Given the description of an element on the screen output the (x, y) to click on. 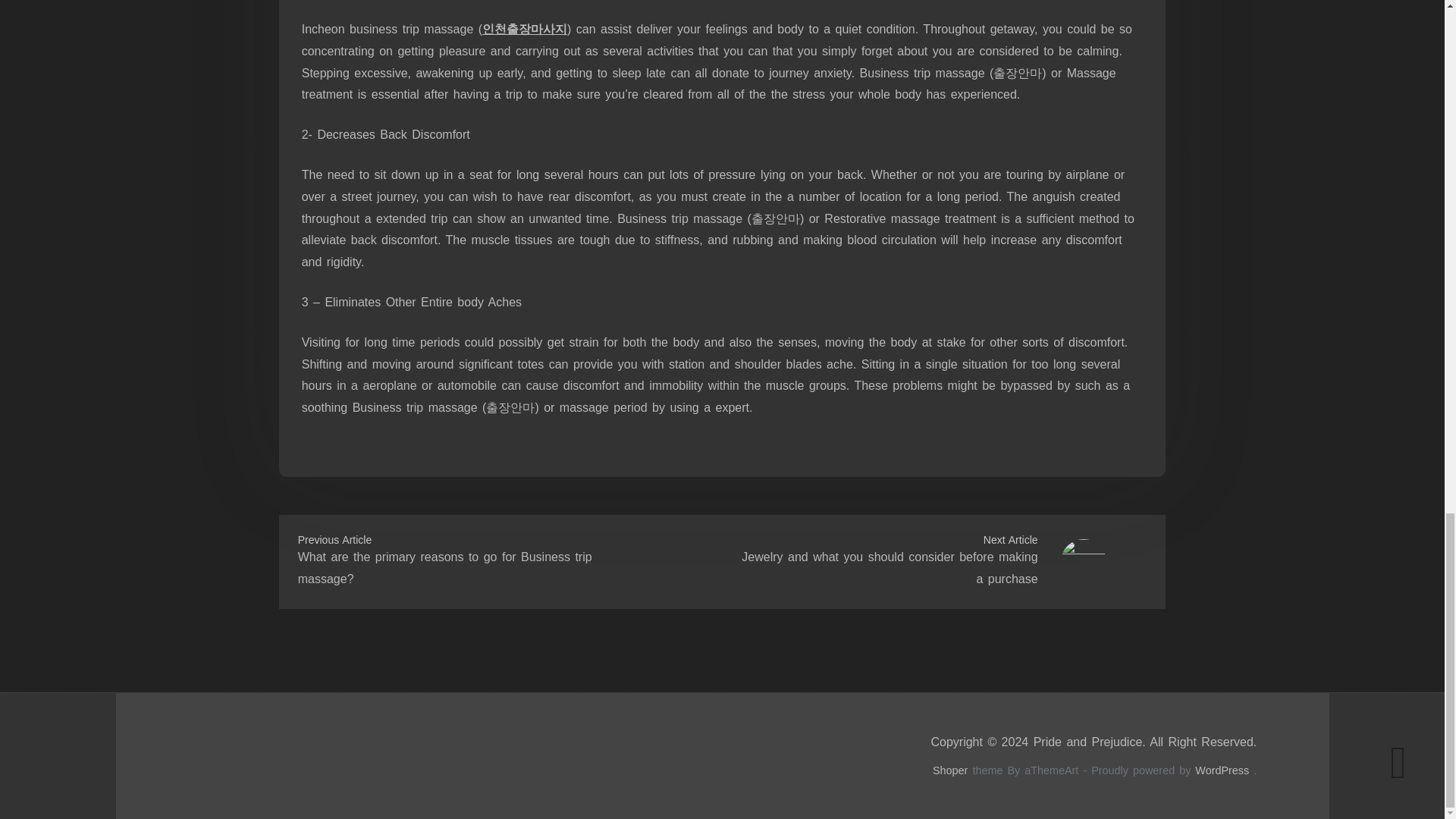
WordPress (1222, 770)
Shoper (950, 770)
